Given the description of an element on the screen output the (x, y) to click on. 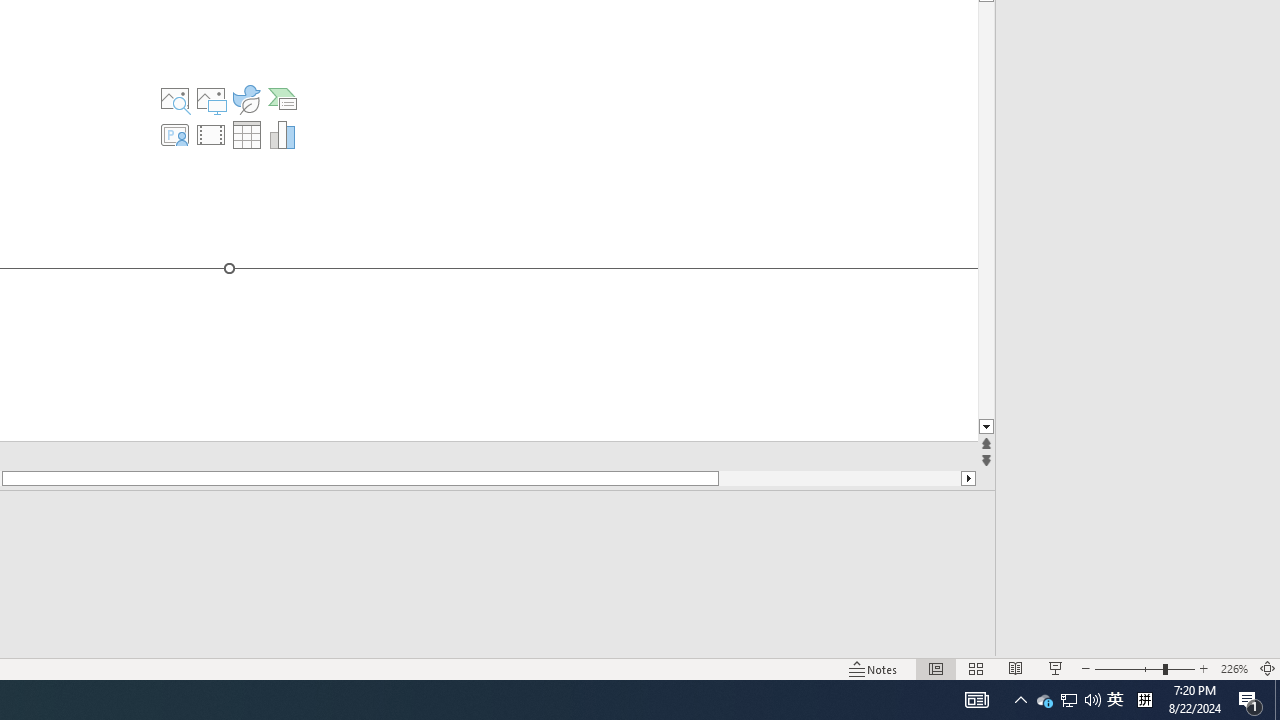
Insert Table (246, 134)
Insert Cameo (174, 134)
Zoom 226% (1234, 668)
